Given the description of an element on the screen output the (x, y) to click on. 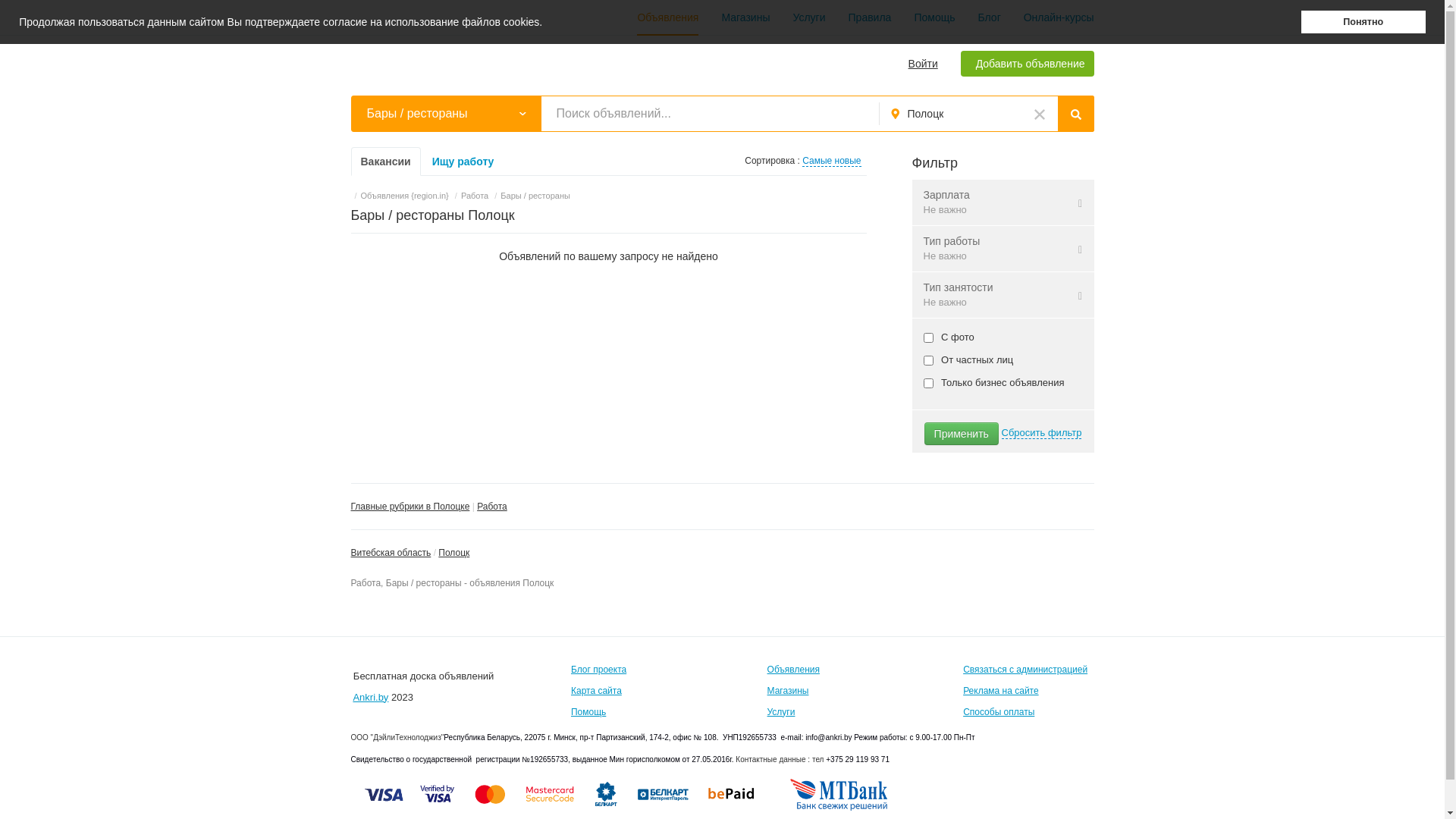
Ankri.by Element type: text (370, 696)
